Given the description of an element on the screen output the (x, y) to click on. 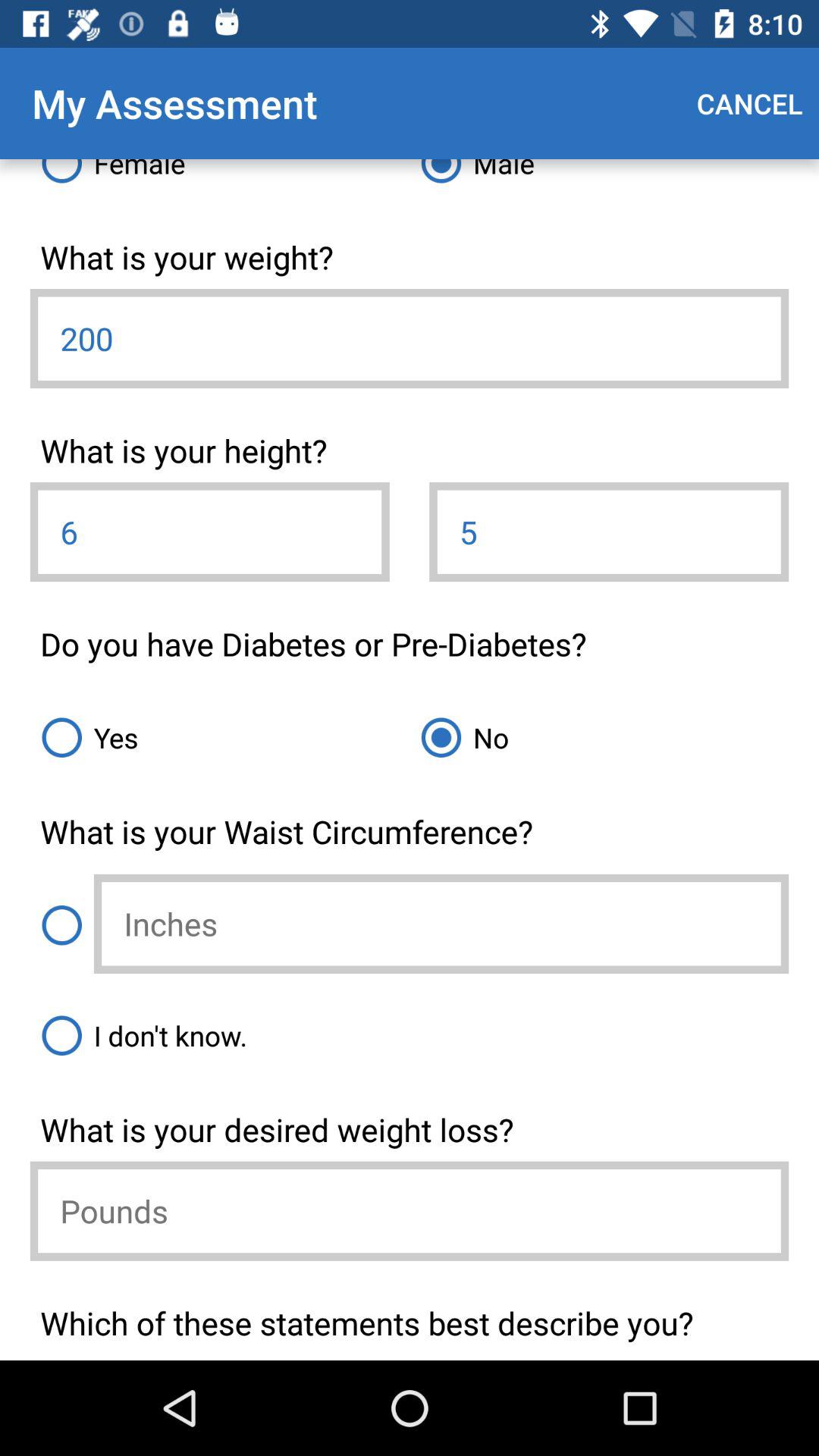
turn on item to the right of yes icon (598, 737)
